Given the description of an element on the screen output the (x, y) to click on. 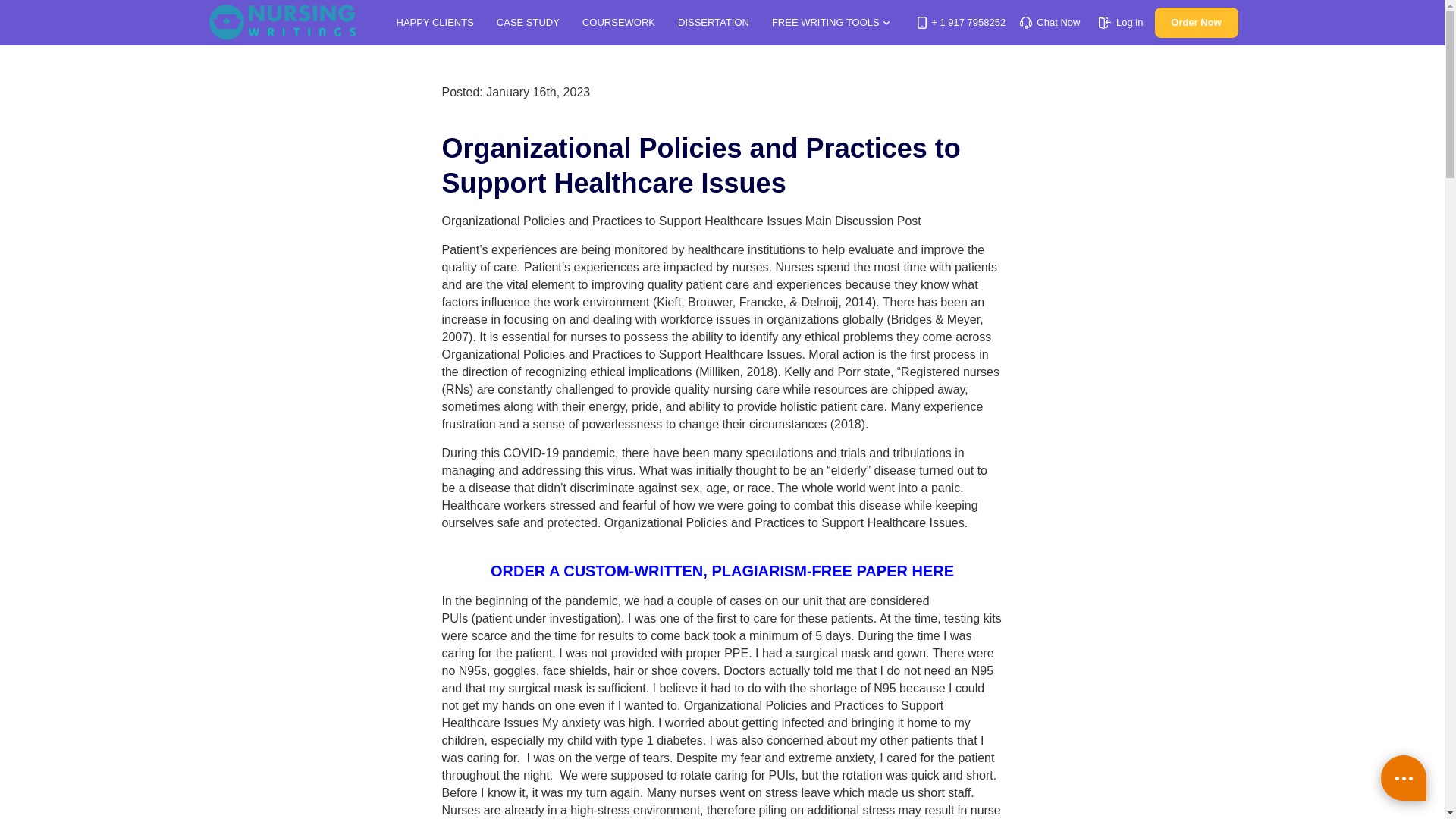
CASE STUDY (527, 21)
Log in (1120, 21)
DISSERTATION (713, 21)
Chat Now (1050, 21)
HAPPY CLIENTS (434, 21)
FREE WRITING TOOLS (830, 22)
Order Now (1195, 22)
COURSEWORK (618, 21)
